Given the description of an element on the screen output the (x, y) to click on. 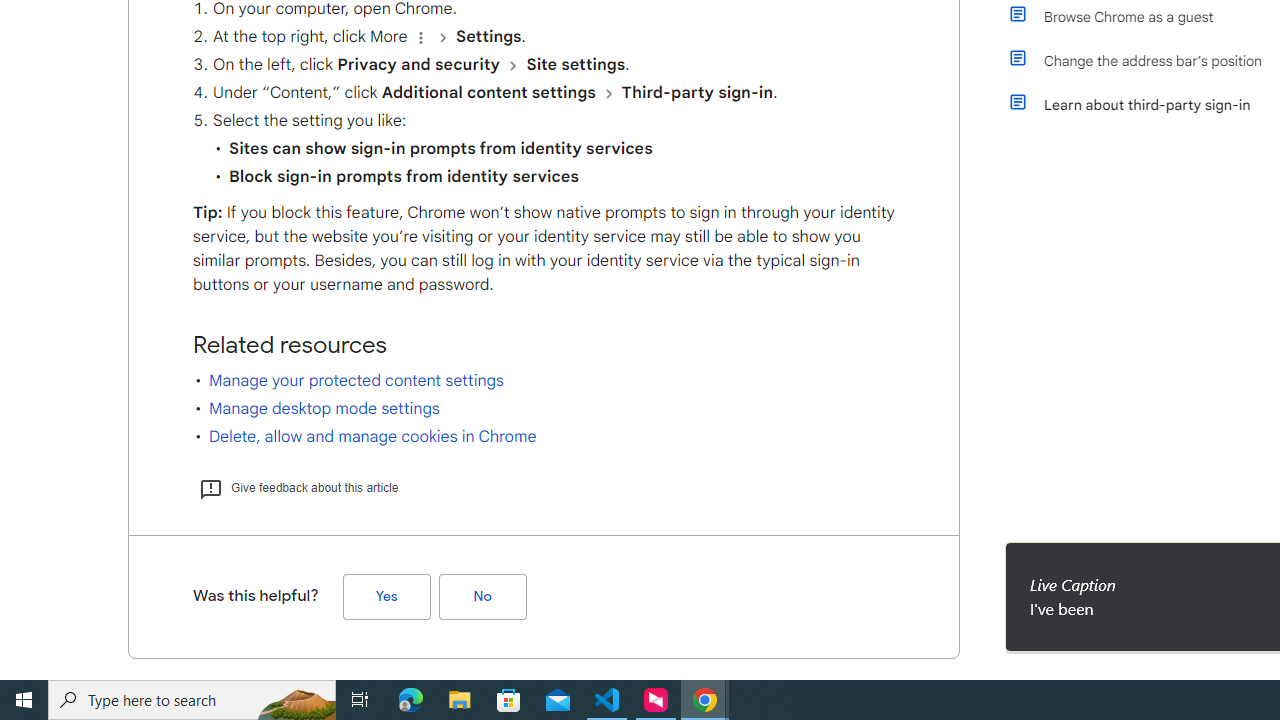
Delete, allow and manage cookies in Chrome (372, 436)
Manage desktop mode settings (324, 408)
Give feedback about this article (298, 487)
No (Was this helpful?) (482, 596)
Organize (420, 37)
and then (608, 93)
Yes (Was this helpful?) (386, 596)
Manage your protected content settings (356, 380)
